Given the description of an element on the screen output the (x, y) to click on. 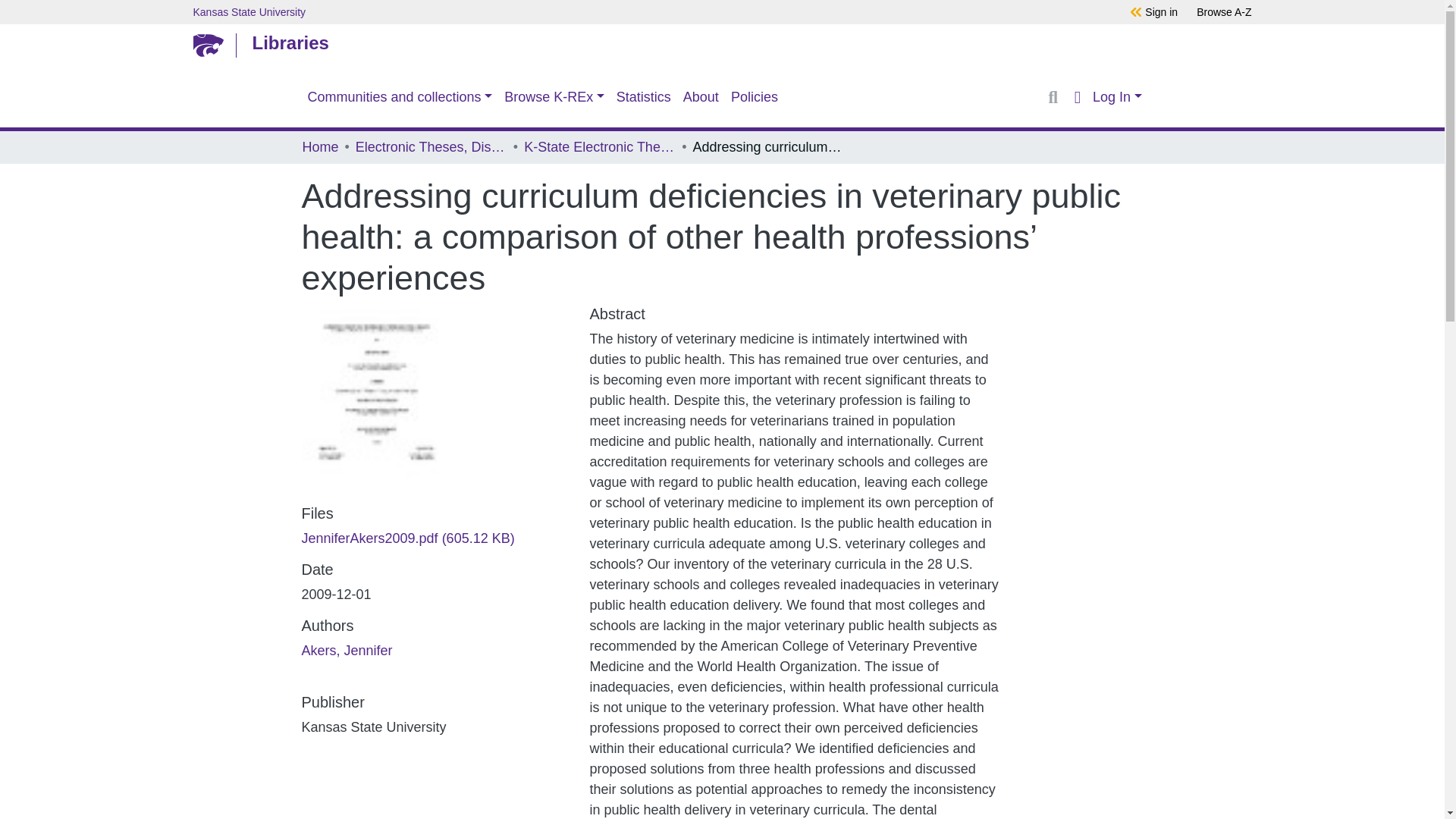
Libraries (718, 43)
Browse A-Z (1223, 11)
Language switch (1077, 96)
About (701, 97)
Akers, Jennifer (347, 650)
Communities and collections (400, 97)
Home (319, 147)
Search (1053, 96)
Log In (1116, 96)
Statistics (643, 97)
